Given the description of an element on the screen output the (x, y) to click on. 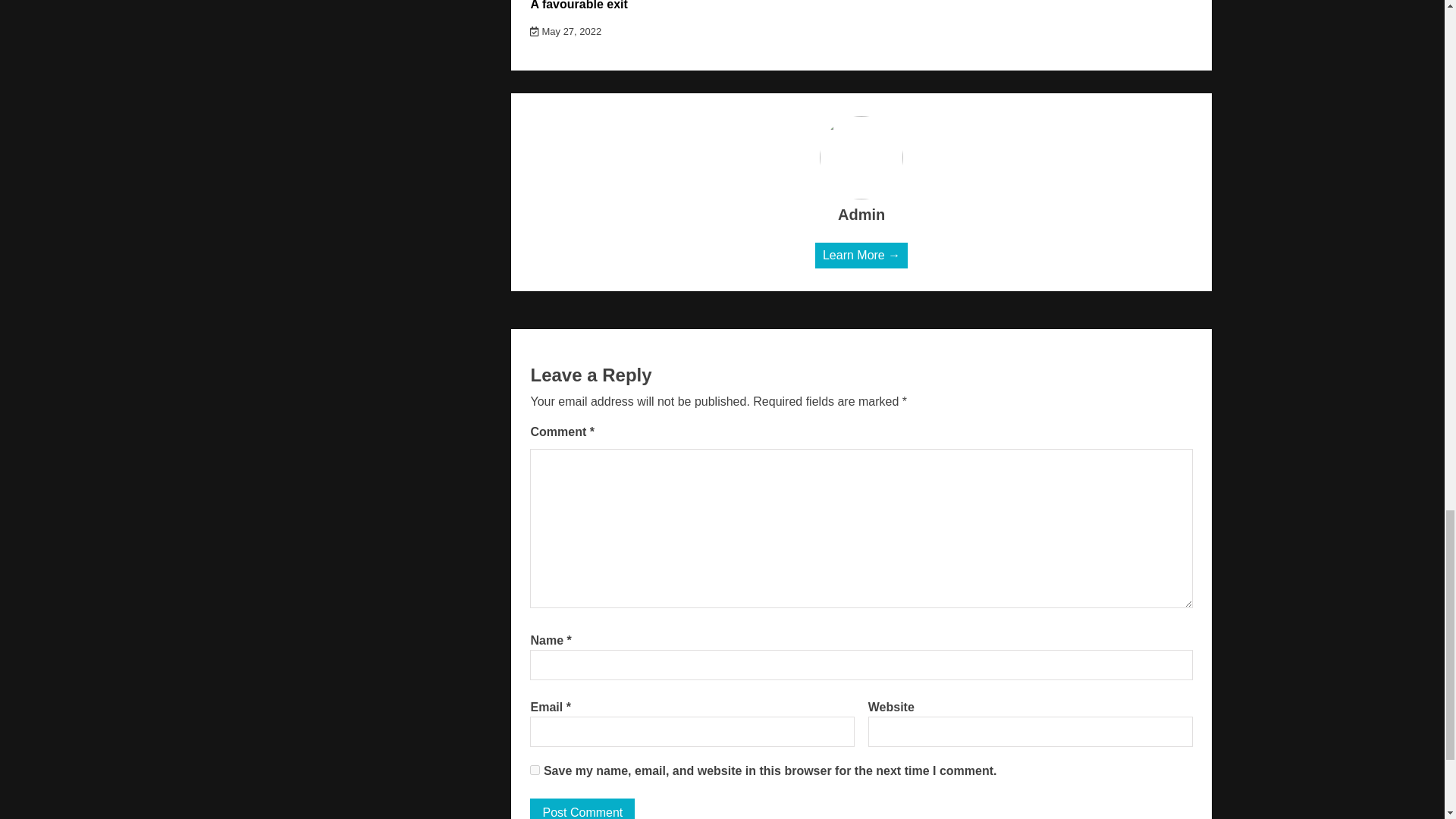
Post Comment (581, 808)
A favourable exit (578, 5)
May 27, 2022 (565, 30)
Post Comment (581, 808)
yes (534, 769)
